Given the description of an element on the screen output the (x, y) to click on. 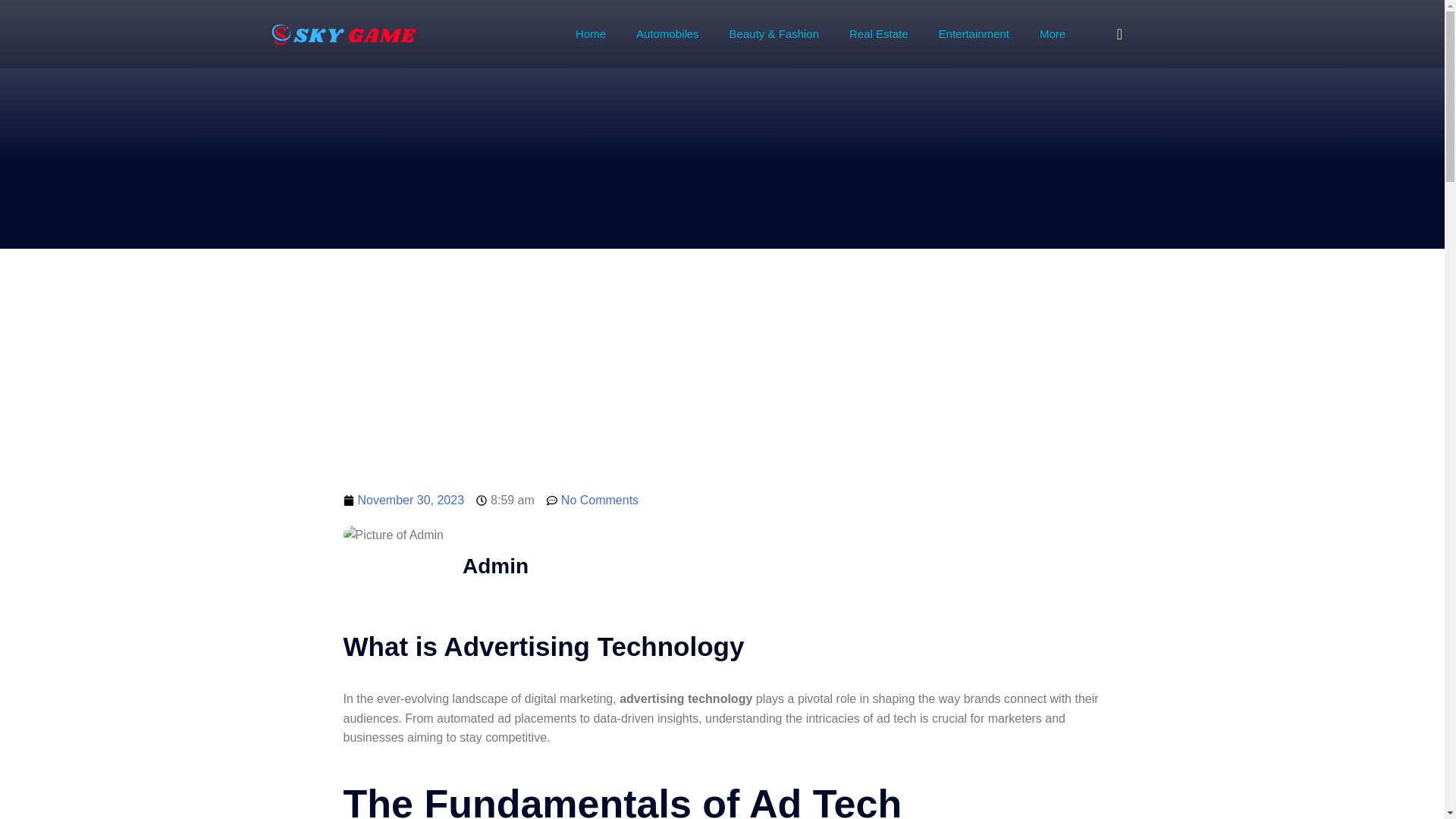
November 30, 2023 (403, 500)
Real Estate (878, 33)
Home (590, 33)
Automobiles (667, 33)
More (1052, 33)
No Comments (593, 500)
Entertainment (974, 33)
